Given the description of an element on the screen output the (x, y) to click on. 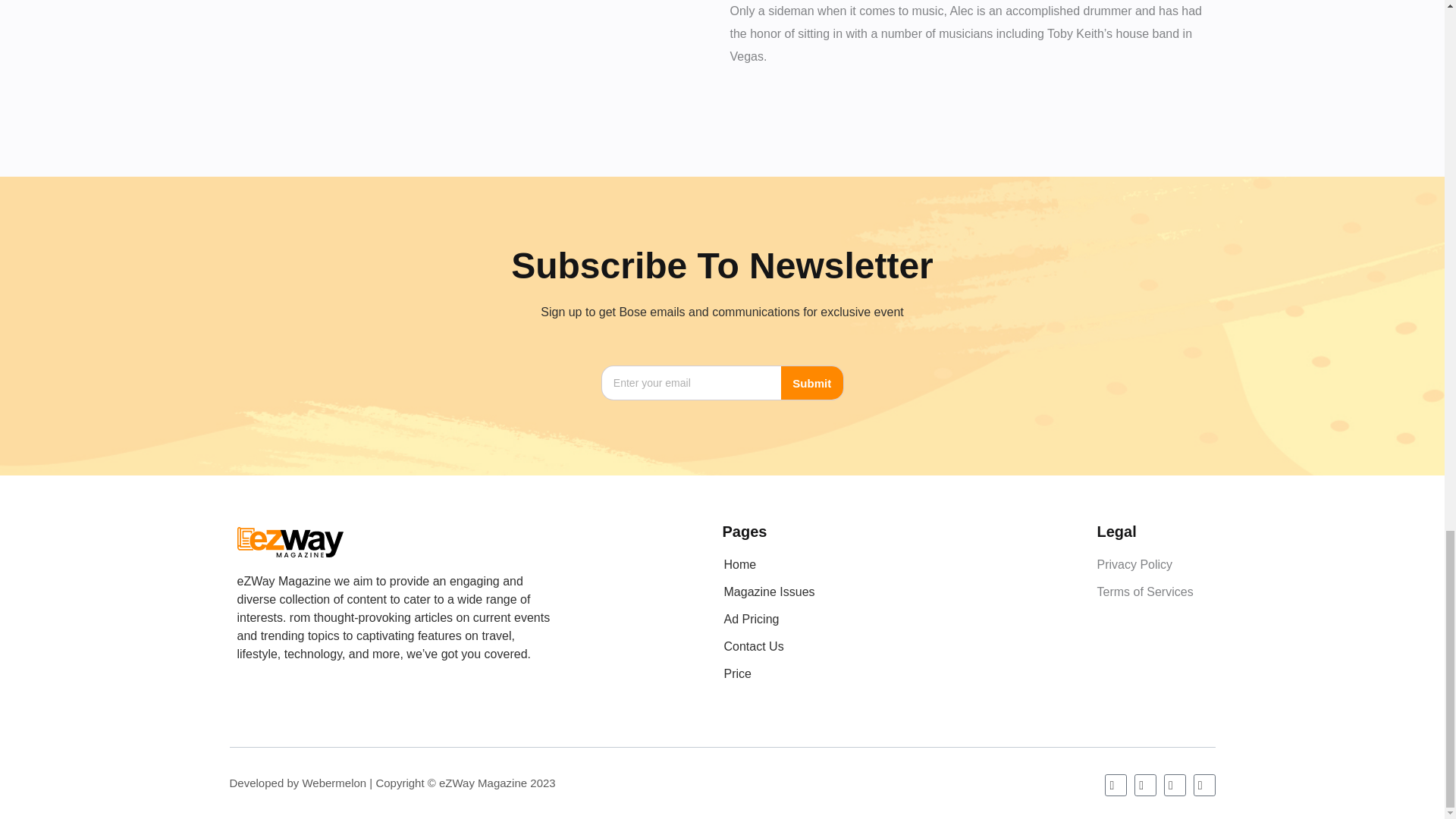
Home (901, 564)
Price (901, 673)
Contact Us (901, 646)
Terms of Services (1144, 591)
Privacy Policy (1134, 563)
Magazine Issues (901, 592)
Submit (811, 382)
Ad Pricing (901, 619)
